Given the description of an element on the screen output the (x, y) to click on. 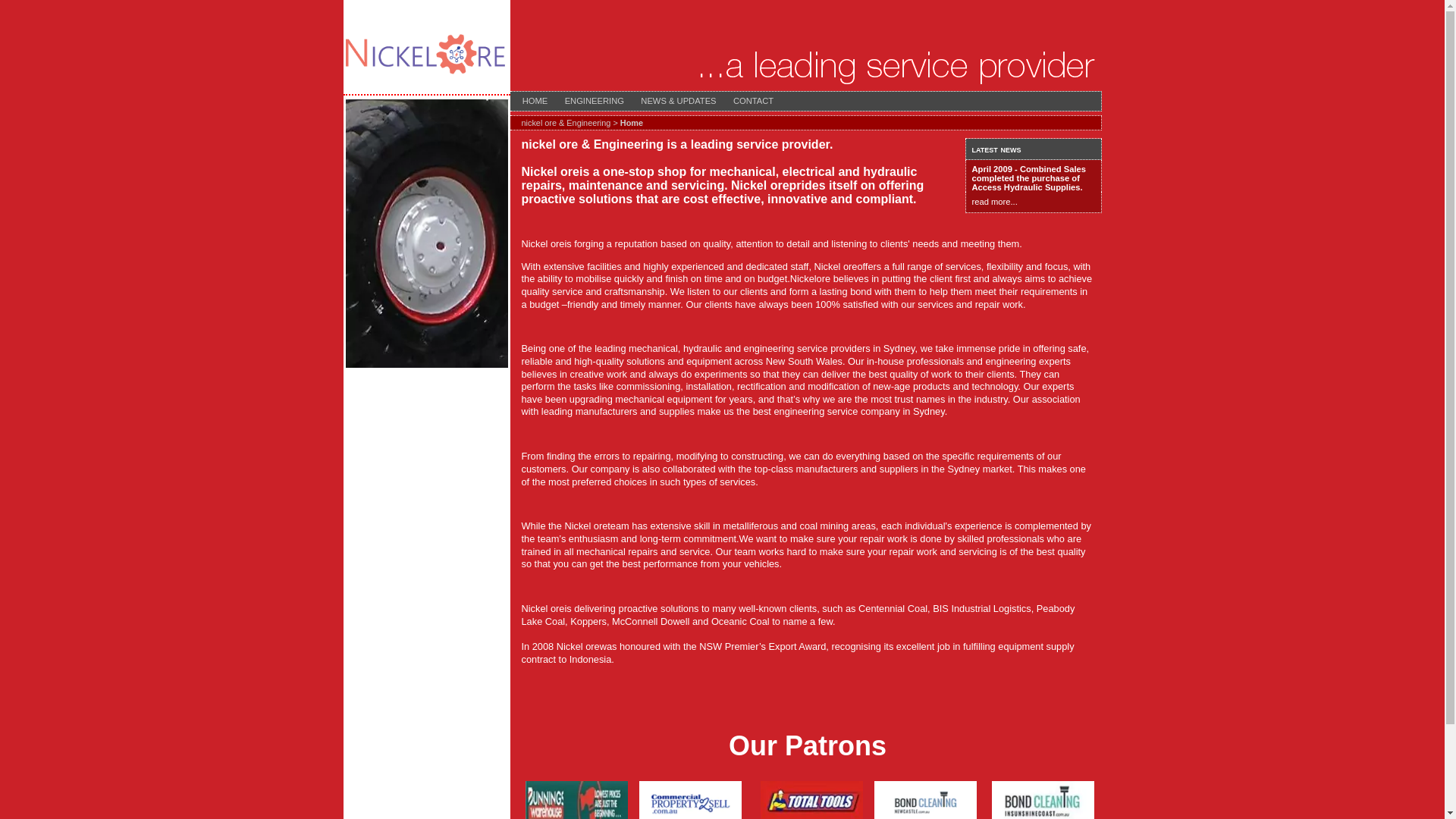
HOME Element type: text (535, 100)
NEWS & UPDATES Element type: text (678, 100)
ENGINEERING Element type: text (593, 100)
CONTACT Element type: text (753, 100)
read more Element type: text (991, 201)
